Given the description of an element on the screen output the (x, y) to click on. 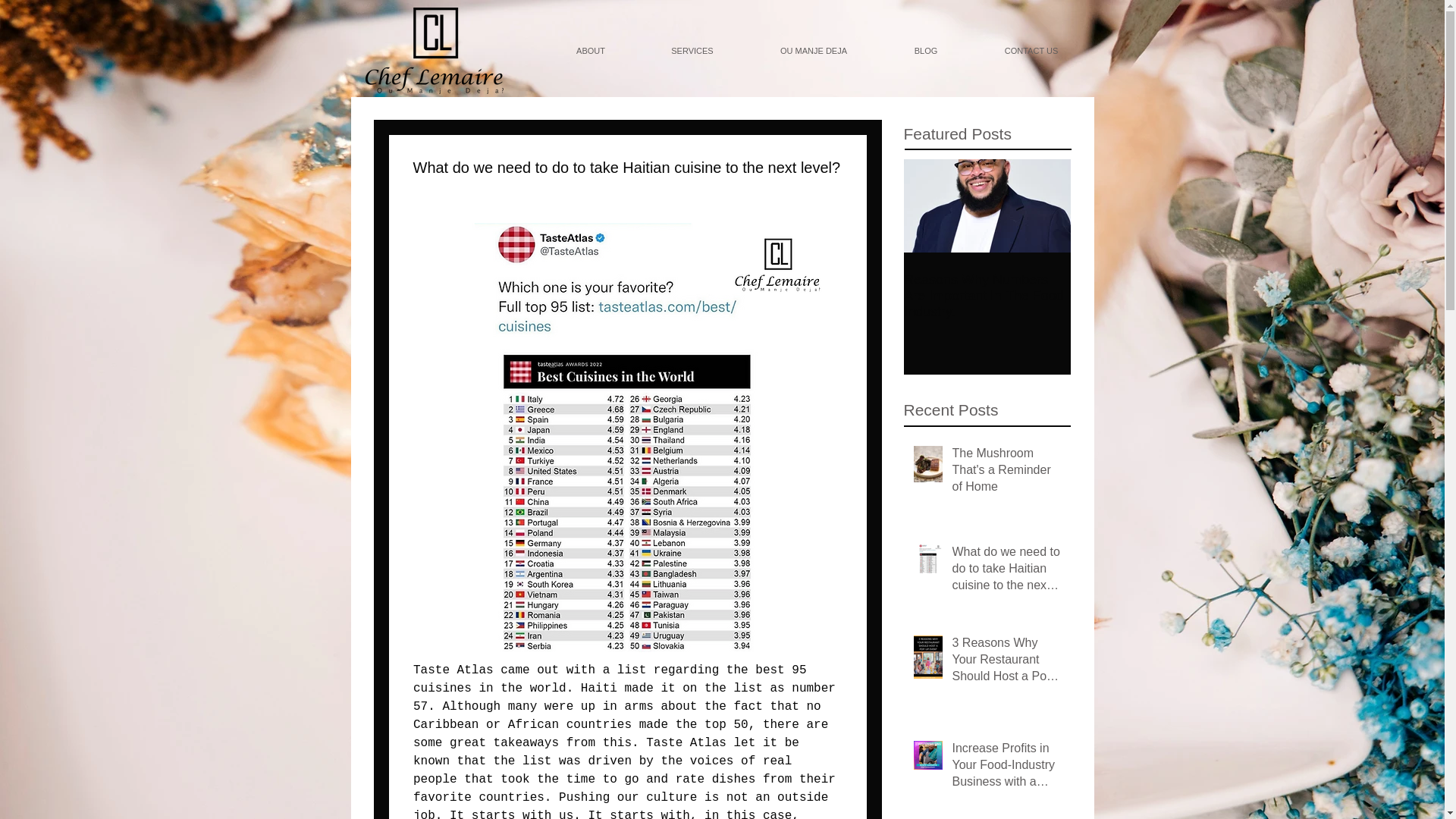
BLOG (924, 50)
Reasons Why Numbers Are Important In The Food Industry. (987, 295)
The Mushroom That's a Reminder of Home (1006, 473)
3 Reasons Why Your Restaurant Should Host a Pop-up Event (1006, 662)
OU MANJE DEJA (813, 50)
SERVICES (692, 50)
CONTACT US (1032, 50)
ABOUT (591, 50)
